Given the description of an element on the screen output the (x, y) to click on. 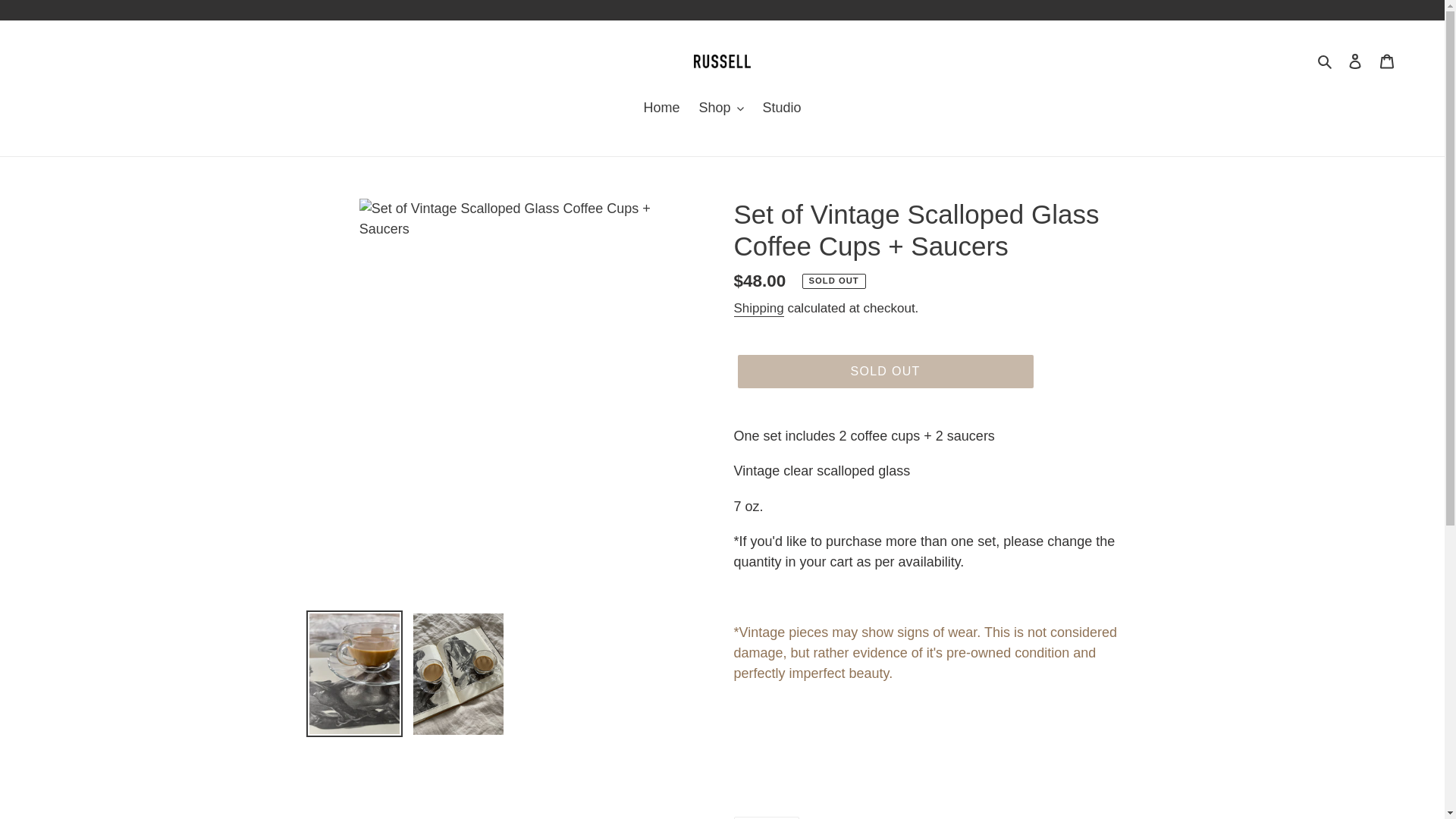
Studio (782, 108)
Log in (1355, 60)
Shipping (758, 308)
Shop (720, 108)
Home (660, 108)
Cart (1387, 60)
SOLD OUT (884, 371)
Search (766, 817)
